Given the description of an element on the screen output the (x, y) to click on. 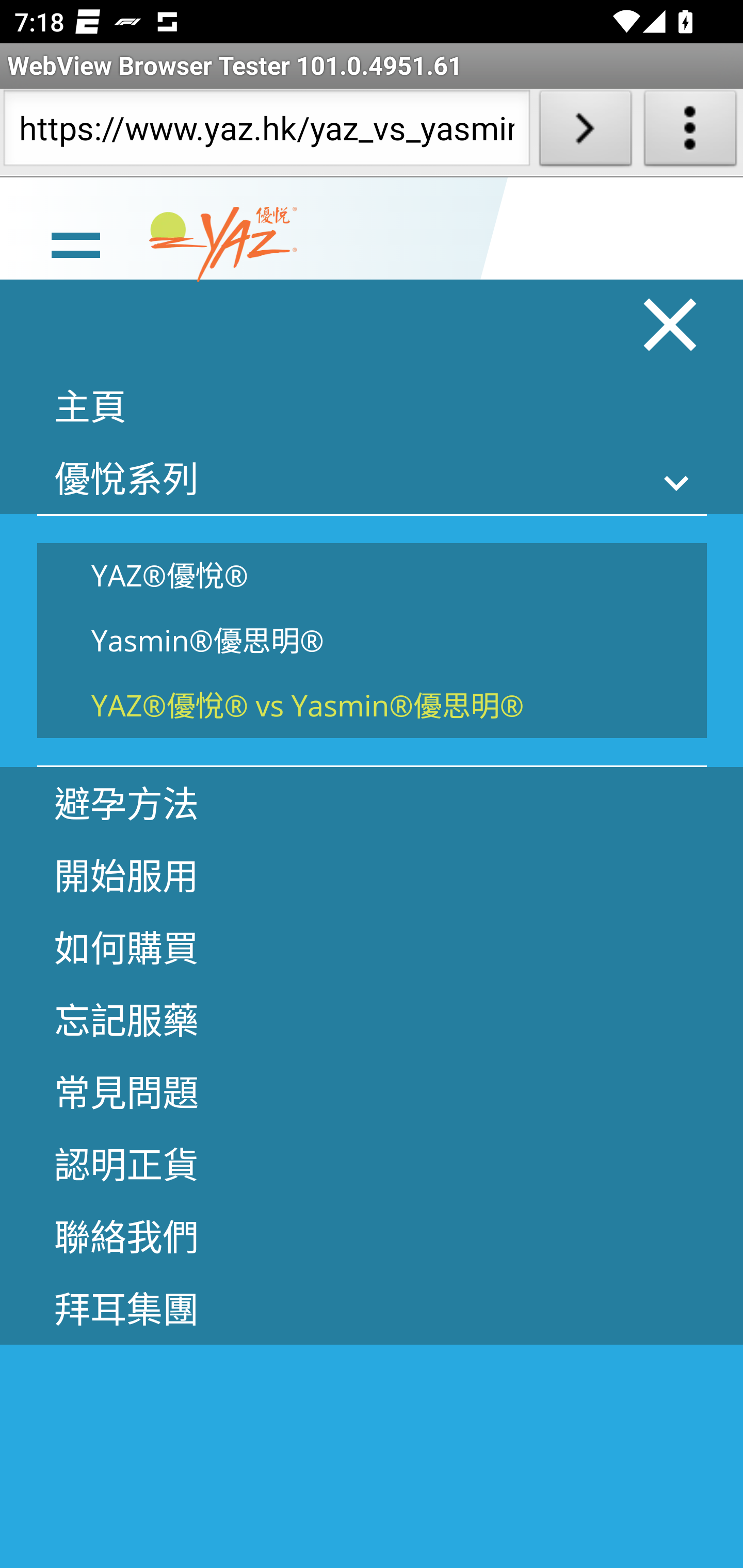
Load URL (585, 132)
About WebView (690, 132)
www.yaz (222, 244)
line Toggle burger menu (75, 242)
 Close burger menu (670, 323)
主頁 (371, 405)
優悅系列 (371, 477)
Toggle sub menu (677, 481)
YAZ®優悅® (372, 574)
Yasmin®優思明® (372, 640)
YAZ®優悅® vs Yasmin®優思明® (372, 704)
避孕方法 (371, 802)
開始服用 (371, 874)
如何購買 (371, 946)
忘記服藥 (371, 1018)
常見問題 (371, 1090)
認明正貨 (371, 1163)
聯絡我們 (371, 1235)
拜耳集團 (371, 1308)
